Given the description of an element on the screen output the (x, y) to click on. 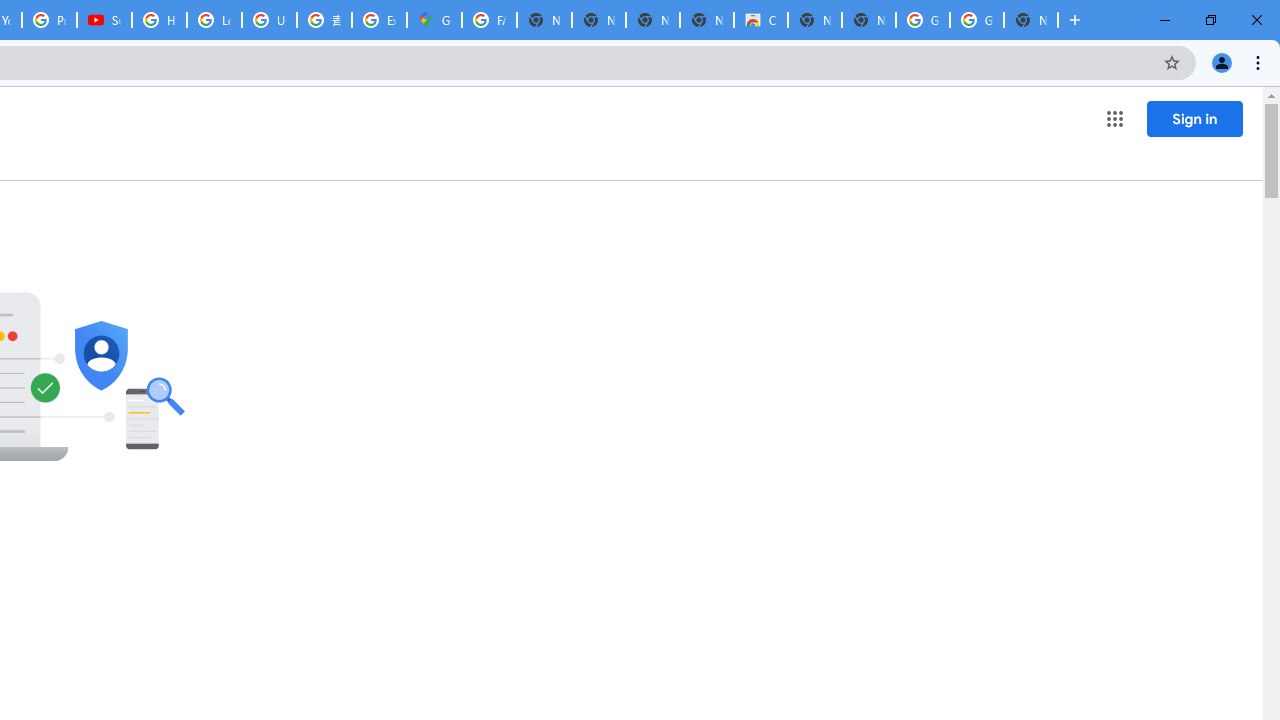
Explore new street-level details - Google Maps Help (379, 20)
Google Maps (434, 20)
Google Images (922, 20)
Subscriptions - YouTube (103, 20)
Google Images (976, 20)
Chrome Web Store (760, 20)
